Given the description of an element on the screen output the (x, y) to click on. 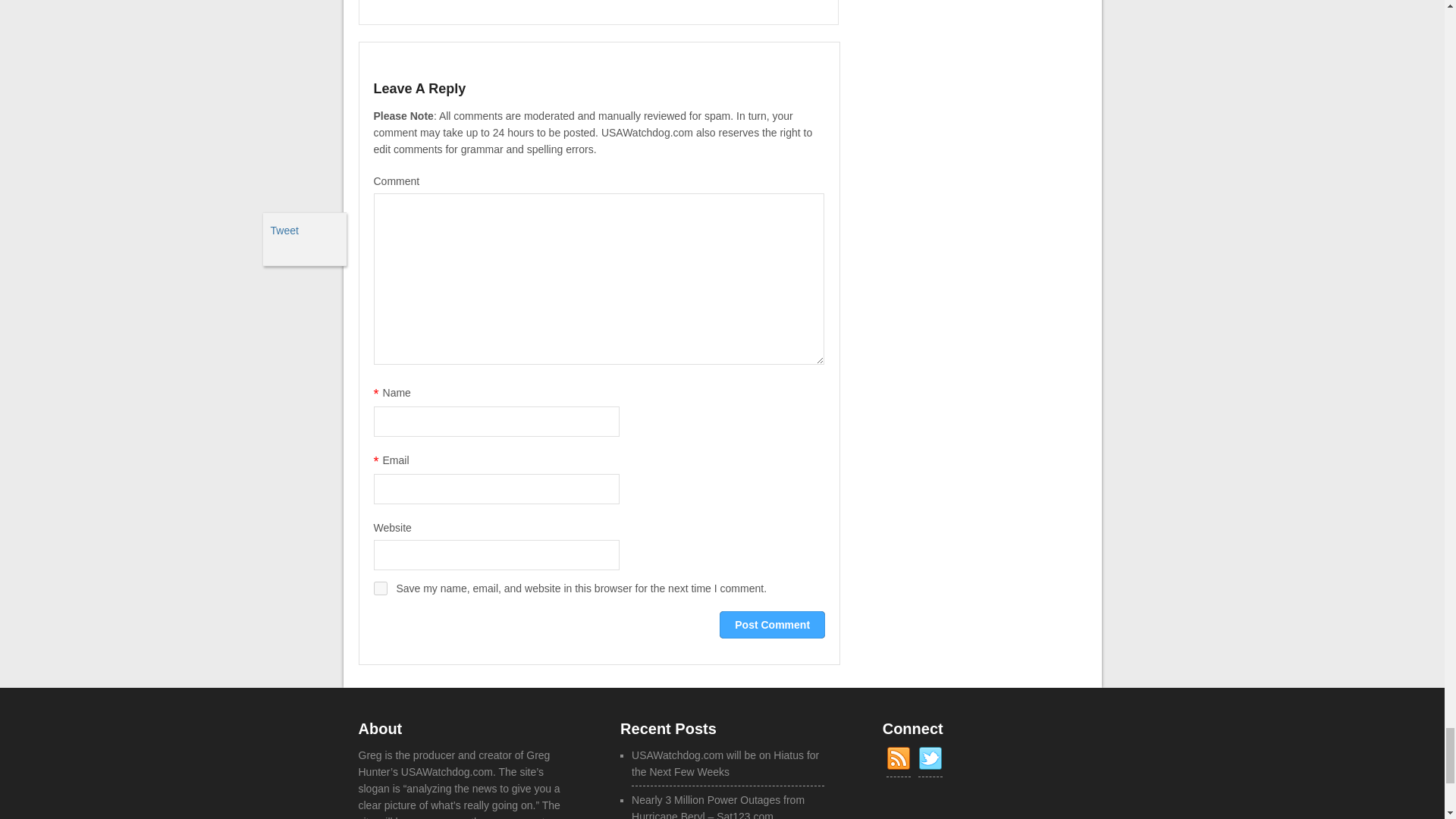
Post Comment (772, 624)
yes (379, 588)
